Given the description of an element on the screen output the (x, y) to click on. 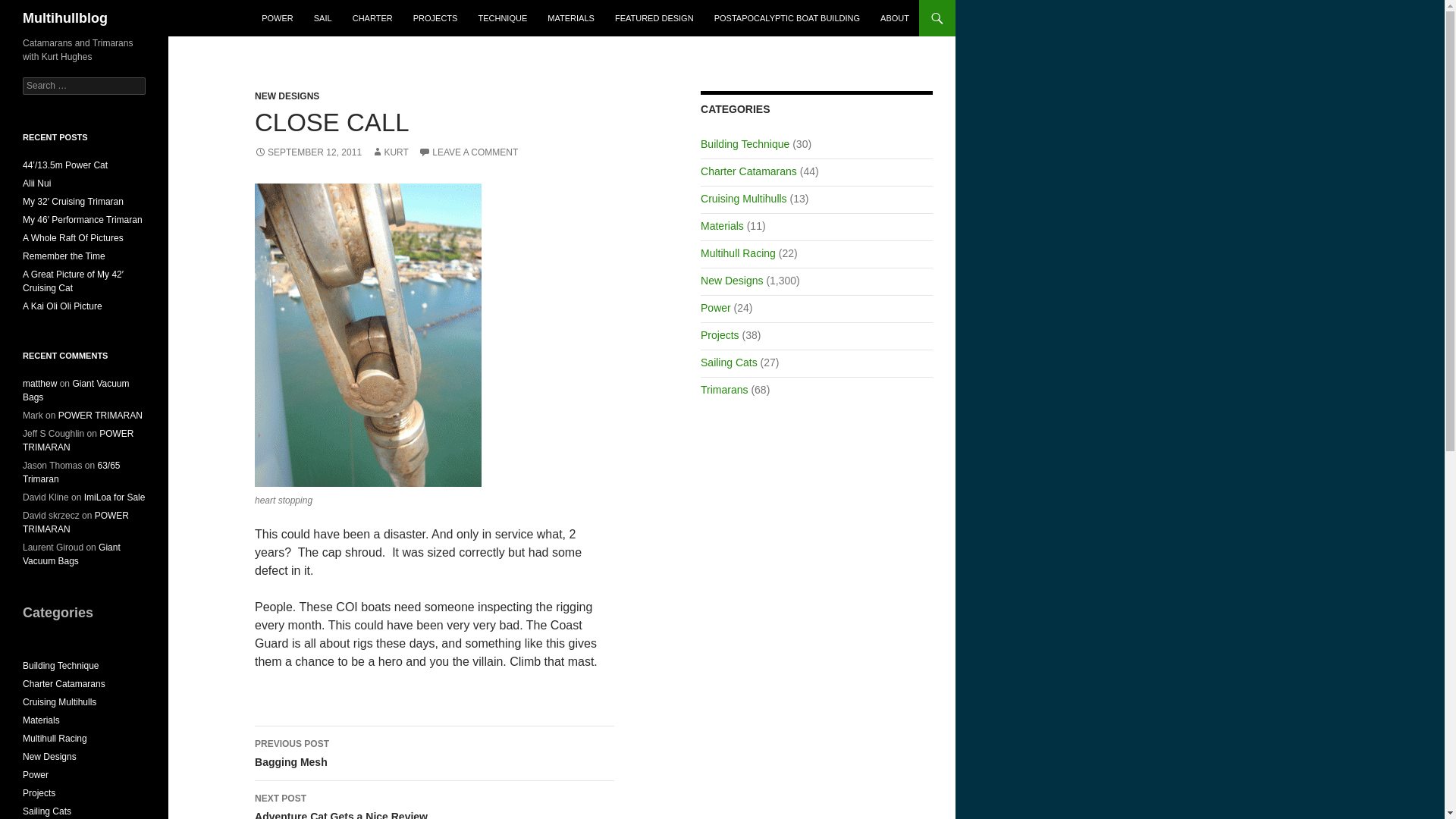
Projects (719, 335)
TECHNIQUE (501, 18)
PROJECTS (435, 18)
New Designs (731, 280)
SEPTEMBER 12, 2011 (307, 152)
KURT (389, 152)
Trimarans (724, 389)
NEW DESIGNS (286, 95)
Multihullblog (65, 18)
Power (715, 307)
